Given the description of an element on the screen output the (x, y) to click on. 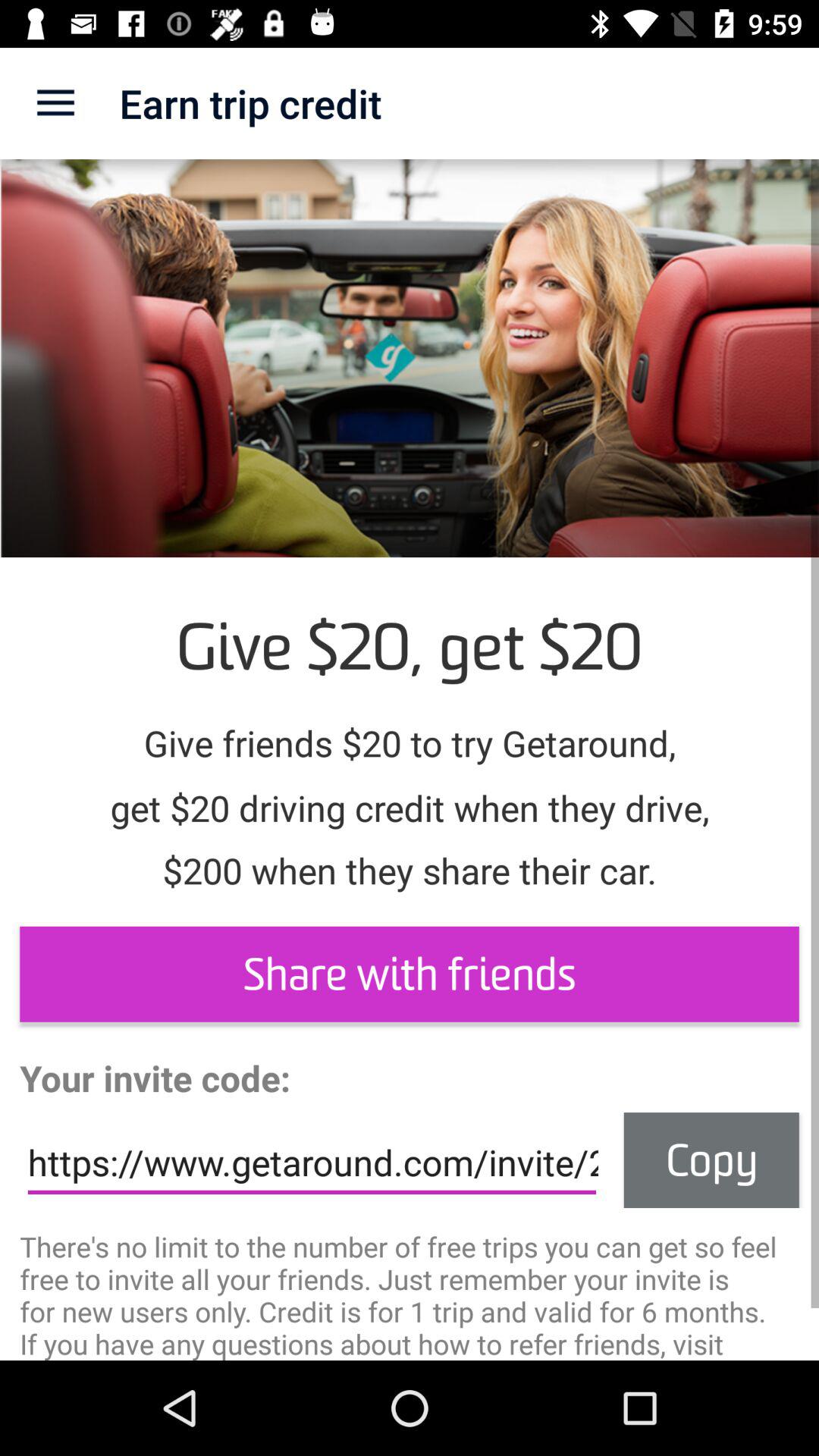
flip until there s no item (409, 1293)
